Given the description of an element on the screen output the (x, y) to click on. 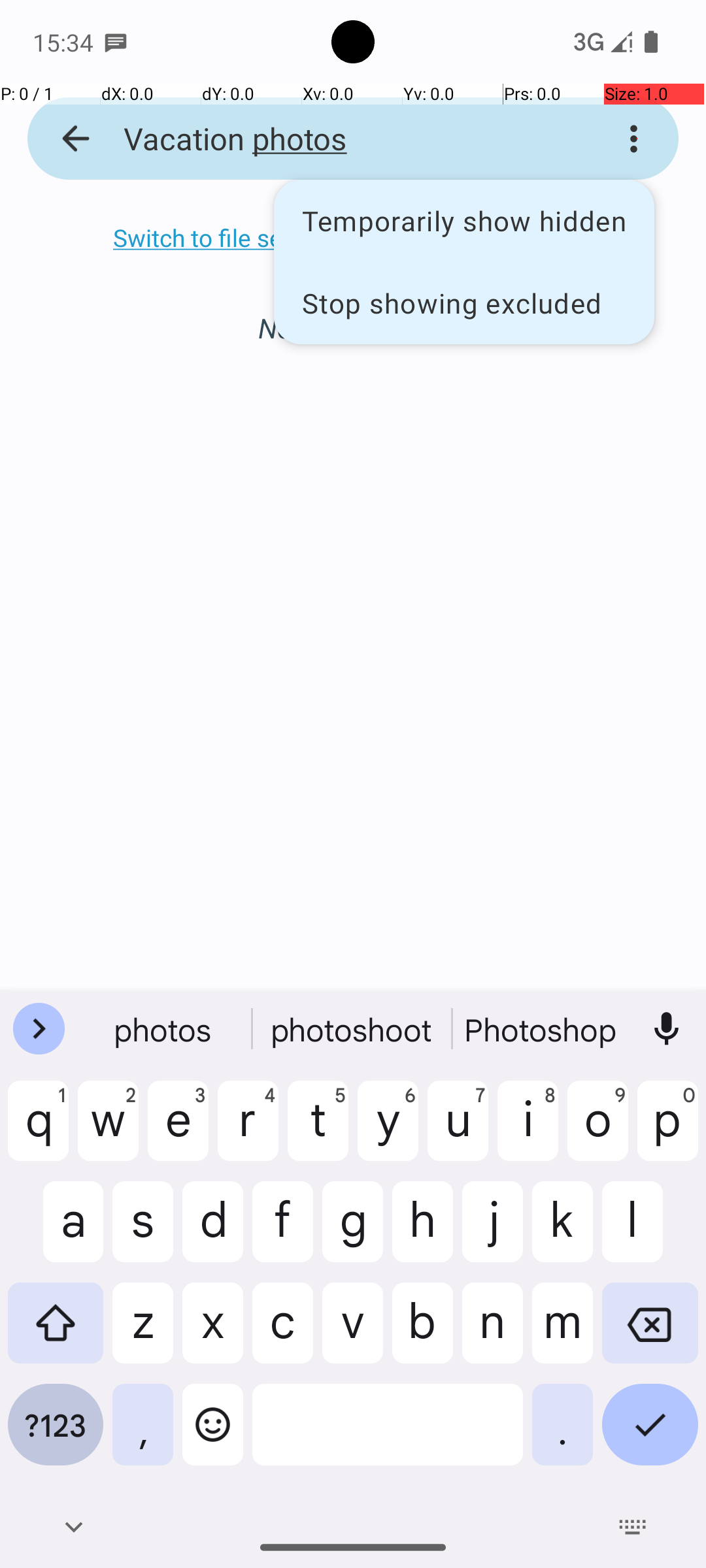
Temporarily show hidden Element type: android.widget.TextView (463, 220)
Stop showing excluded Element type: android.widget.TextView (463, 302)
